Given the description of an element on the screen output the (x, y) to click on. 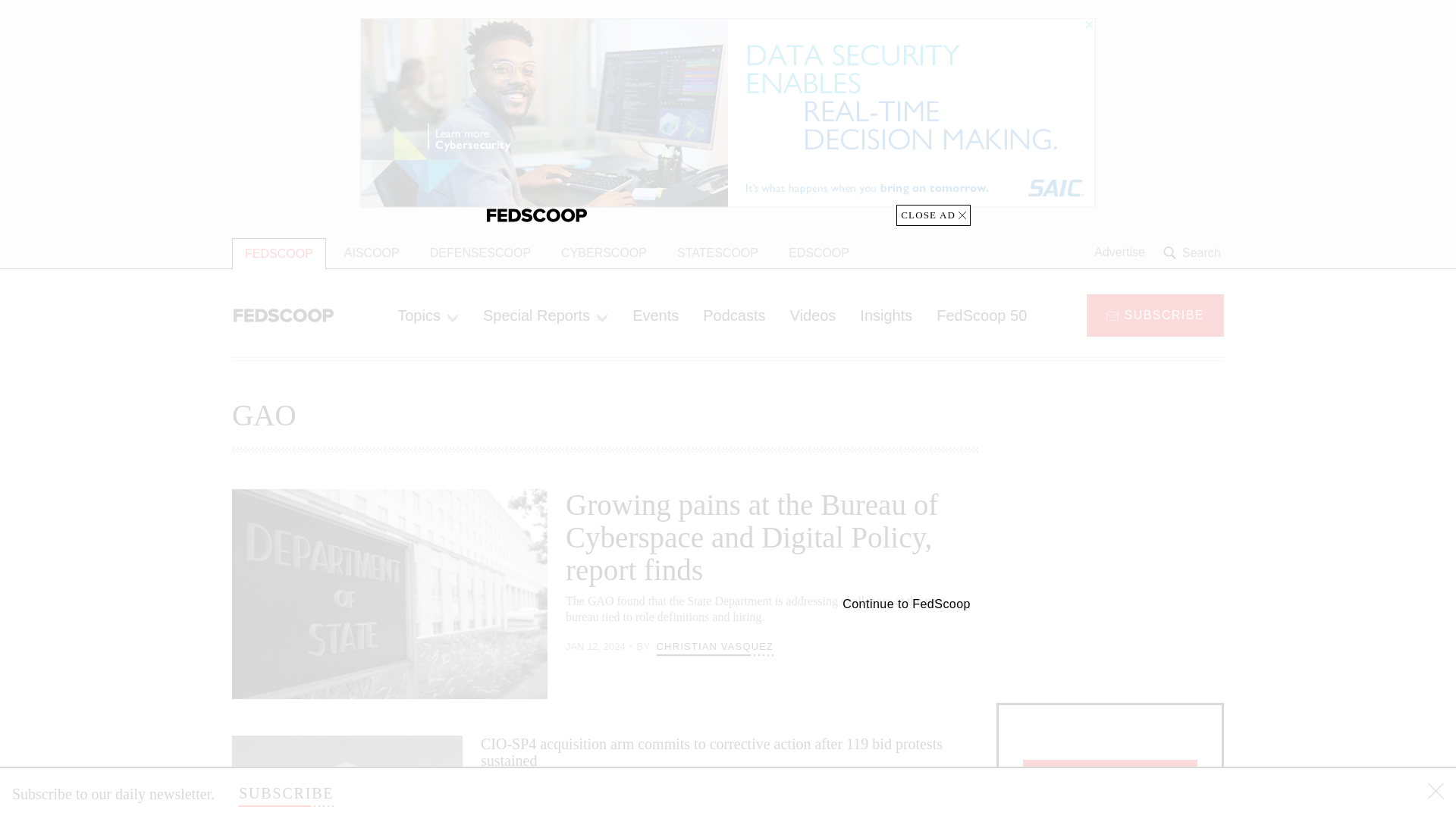
STATESCOOP (717, 253)
Advertise (1119, 252)
Videos (812, 315)
EDSCOOP (818, 253)
Topics (427, 315)
Podcasts (733, 315)
AISCOOP (371, 253)
Special Reports (545, 315)
CYBERSCOOP (603, 253)
FEDSCOOP (278, 253)
FedScoop 50 (981, 315)
Insights (885, 315)
